Given the description of an element on the screen output the (x, y) to click on. 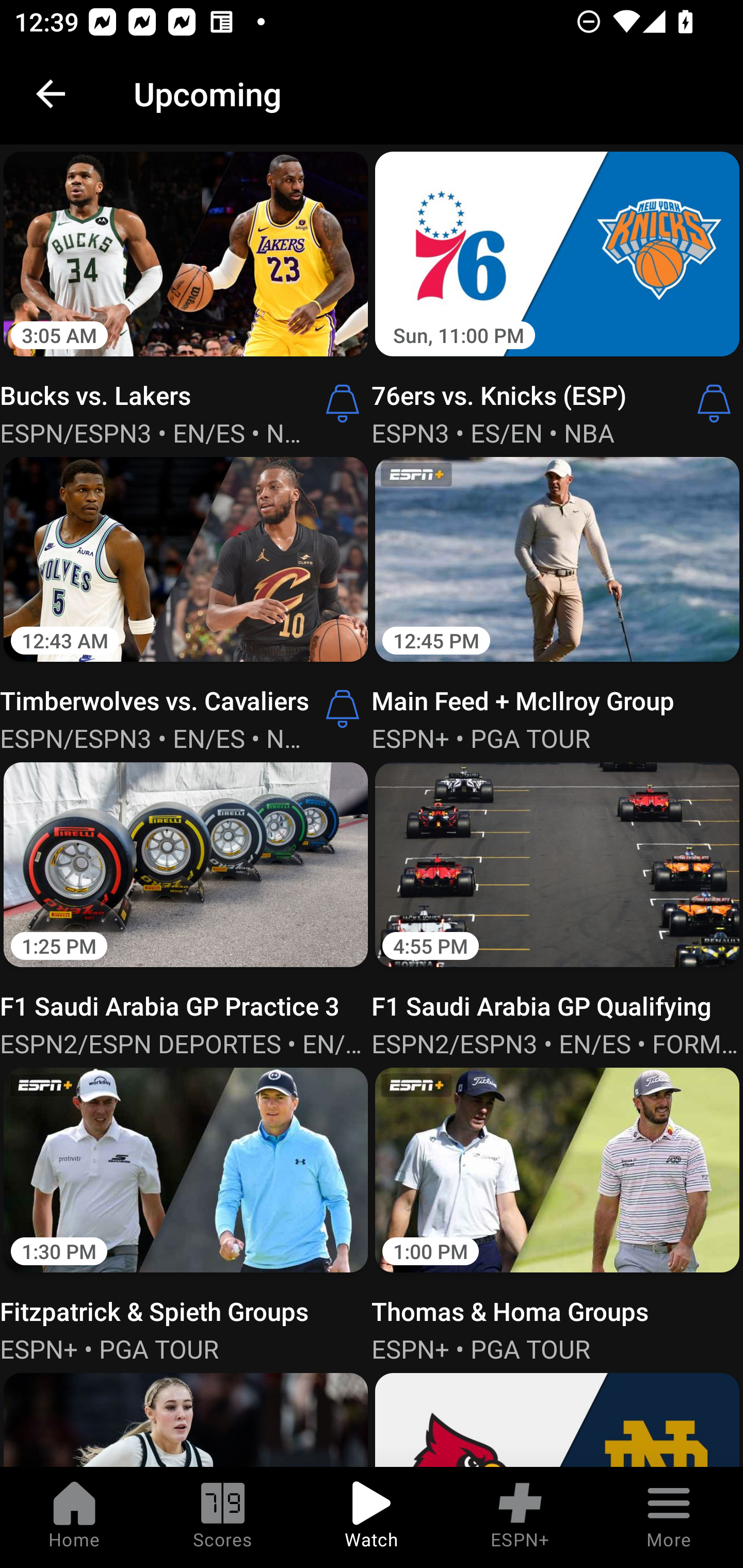
Alerts (342, 403)
Alerts (714, 403)
Alerts (342, 708)
1:00 PM Thomas & Homa Groups ESPN+ • PGA TOUR (557, 1212)
Home (74, 1517)
Scores (222, 1517)
ESPN+ (519, 1517)
More (668, 1517)
